Given the description of an element on the screen output the (x, y) to click on. 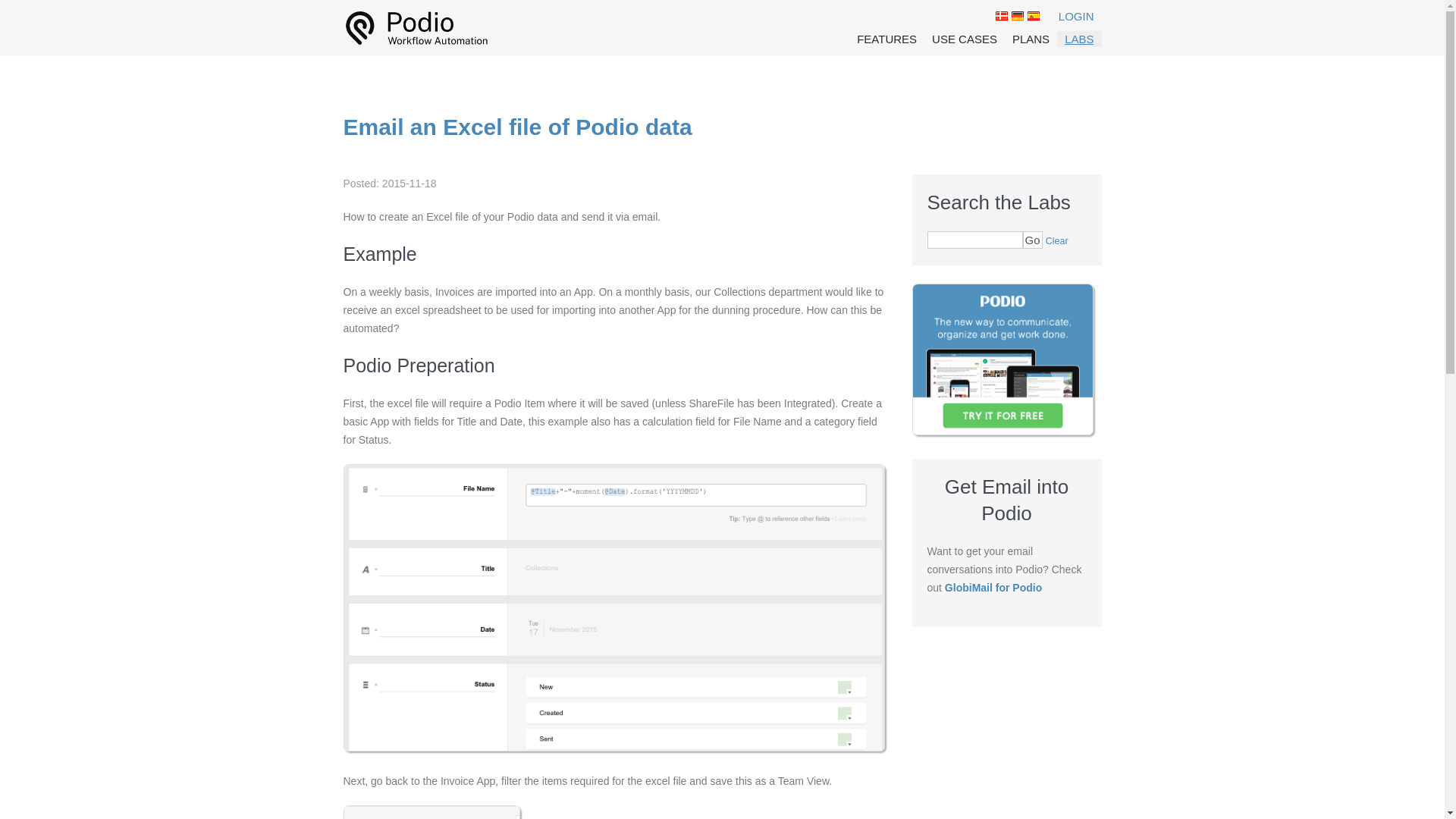
LABS (1078, 38)
FEATURES (887, 38)
LOGIN (1076, 15)
PLANS (1030, 38)
Go (1032, 239)
GlobiMail for Podio (993, 587)
Go (1032, 239)
Clear (1056, 240)
USE CASES (964, 38)
